Given the description of an element on the screen output the (x, y) to click on. 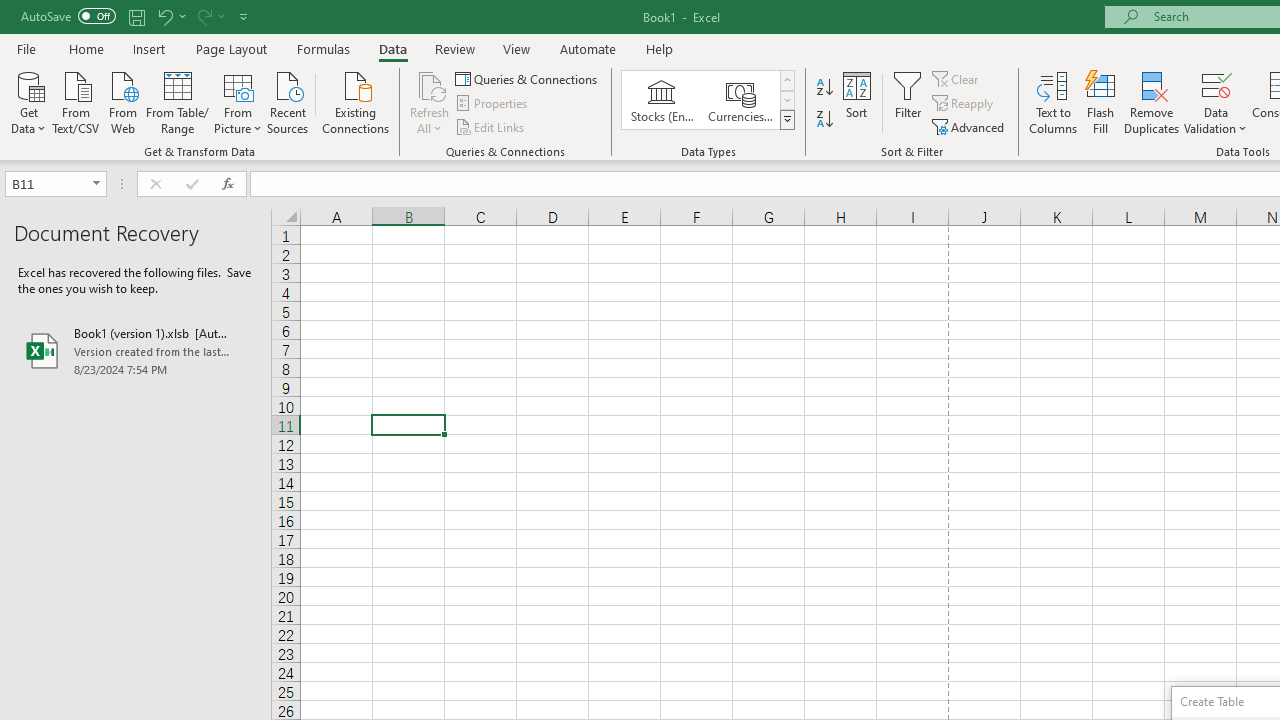
AutoSave (68, 16)
Refresh All (429, 102)
Get Data (28, 101)
Properties (492, 103)
Row Down (786, 100)
Flash Fill (1101, 102)
Sort A to Z (824, 87)
From Table/Range (177, 101)
Clear (957, 78)
Currencies (English) (740, 100)
Row up (786, 79)
Data Validation... (1215, 102)
